Given the description of an element on the screen output the (x, y) to click on. 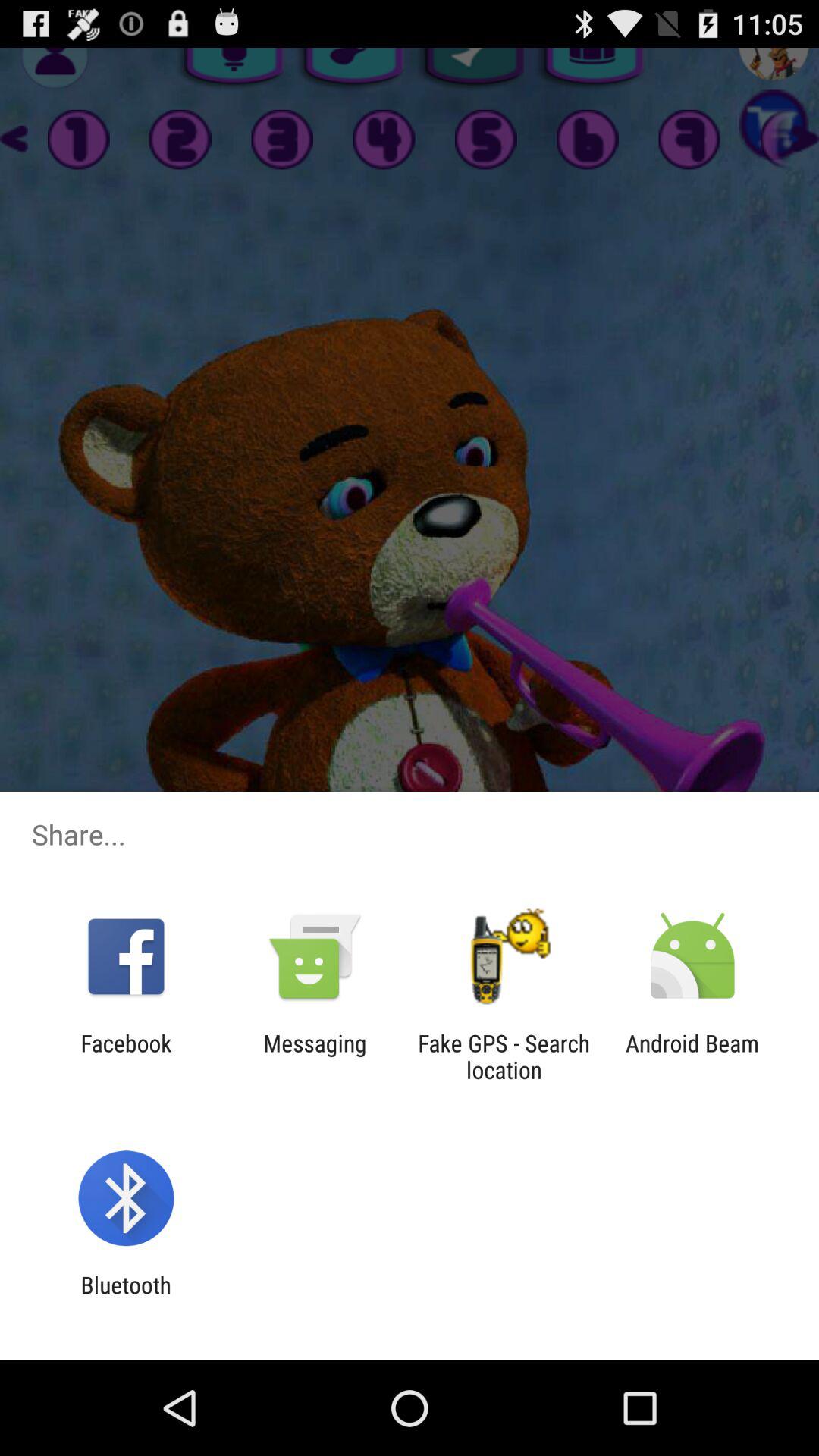
press the app next to the fake gps search icon (692, 1056)
